Given the description of an element on the screen output the (x, y) to click on. 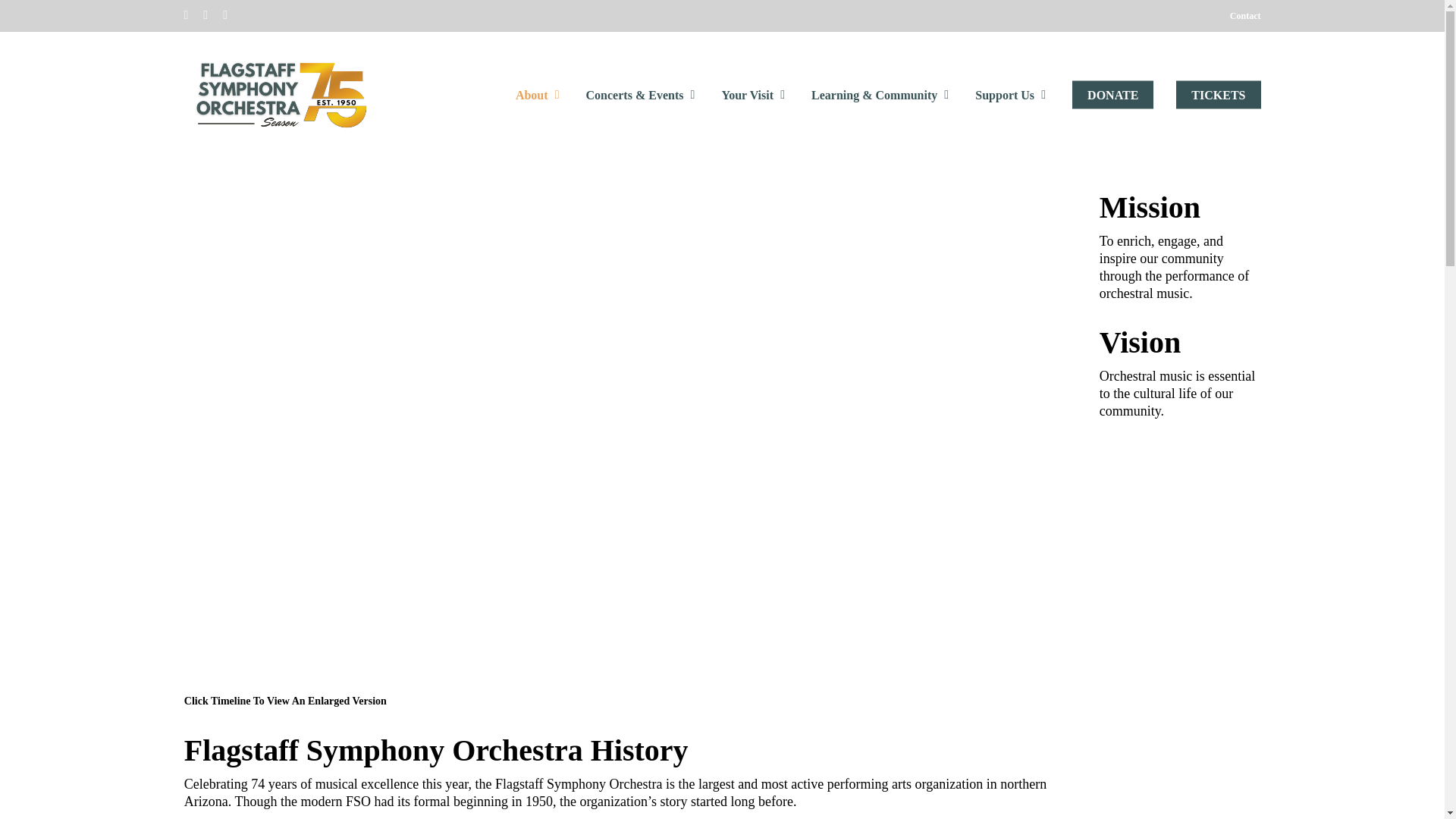
Your Visit (754, 94)
About (539, 94)
Support Us (1012, 94)
Contact (1245, 15)
